Given the description of an element on the screen output the (x, y) to click on. 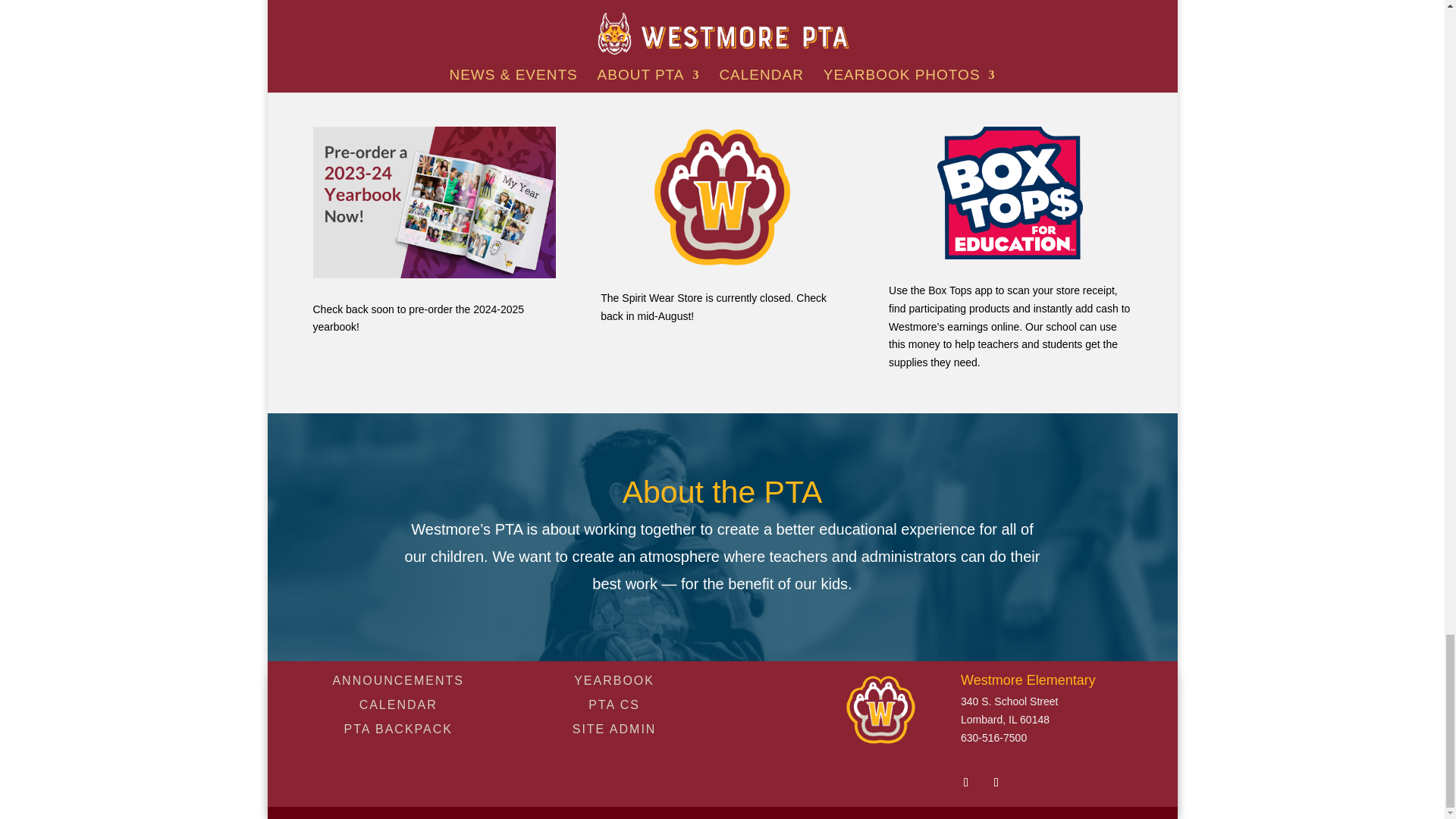
Follow on X (996, 782)
cropped-Westmore-Paw.png (722, 196)
cropped-Westmore-Paw.png (880, 709)
Follow on Facebook (965, 782)
